Given the description of an element on the screen output the (x, y) to click on. 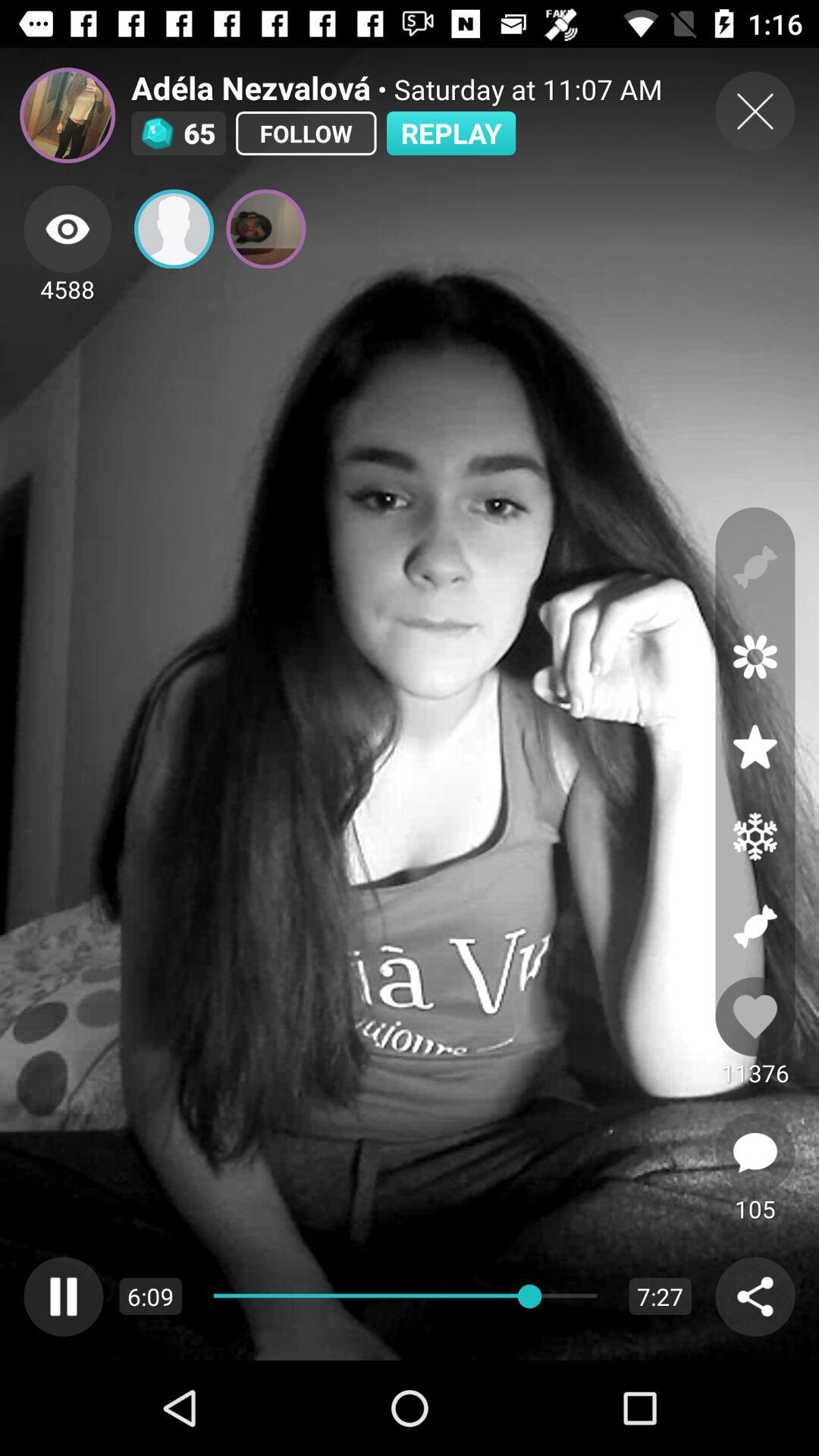
go to views option (67, 229)
